Given the description of an element on the screen output the (x, y) to click on. 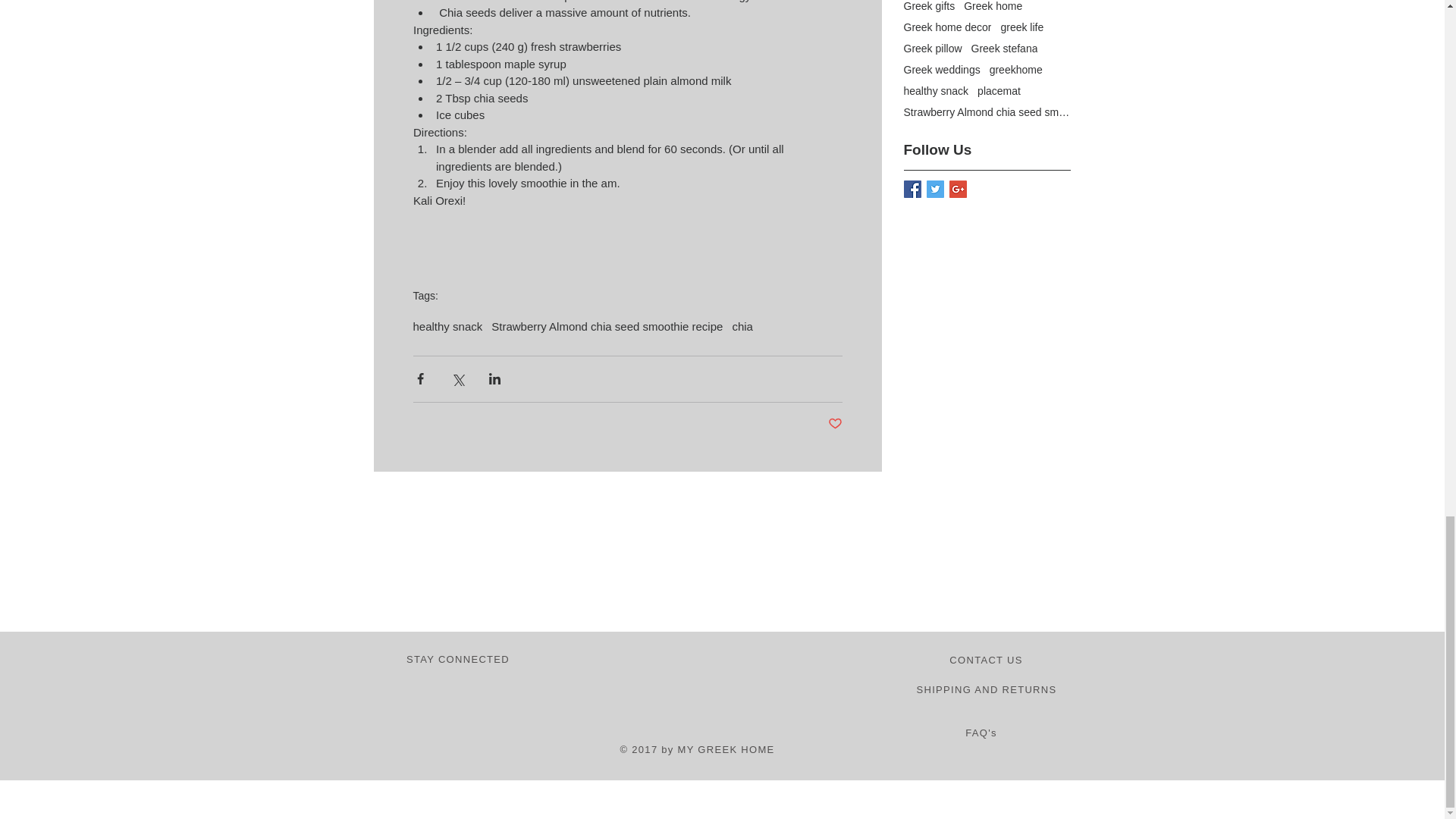
chia (742, 326)
Strawberry Almond chia seed smoothie recipe (607, 326)
healthy snack (446, 326)
Post not marked as liked (835, 423)
